Given the description of an element on the screen output the (x, y) to click on. 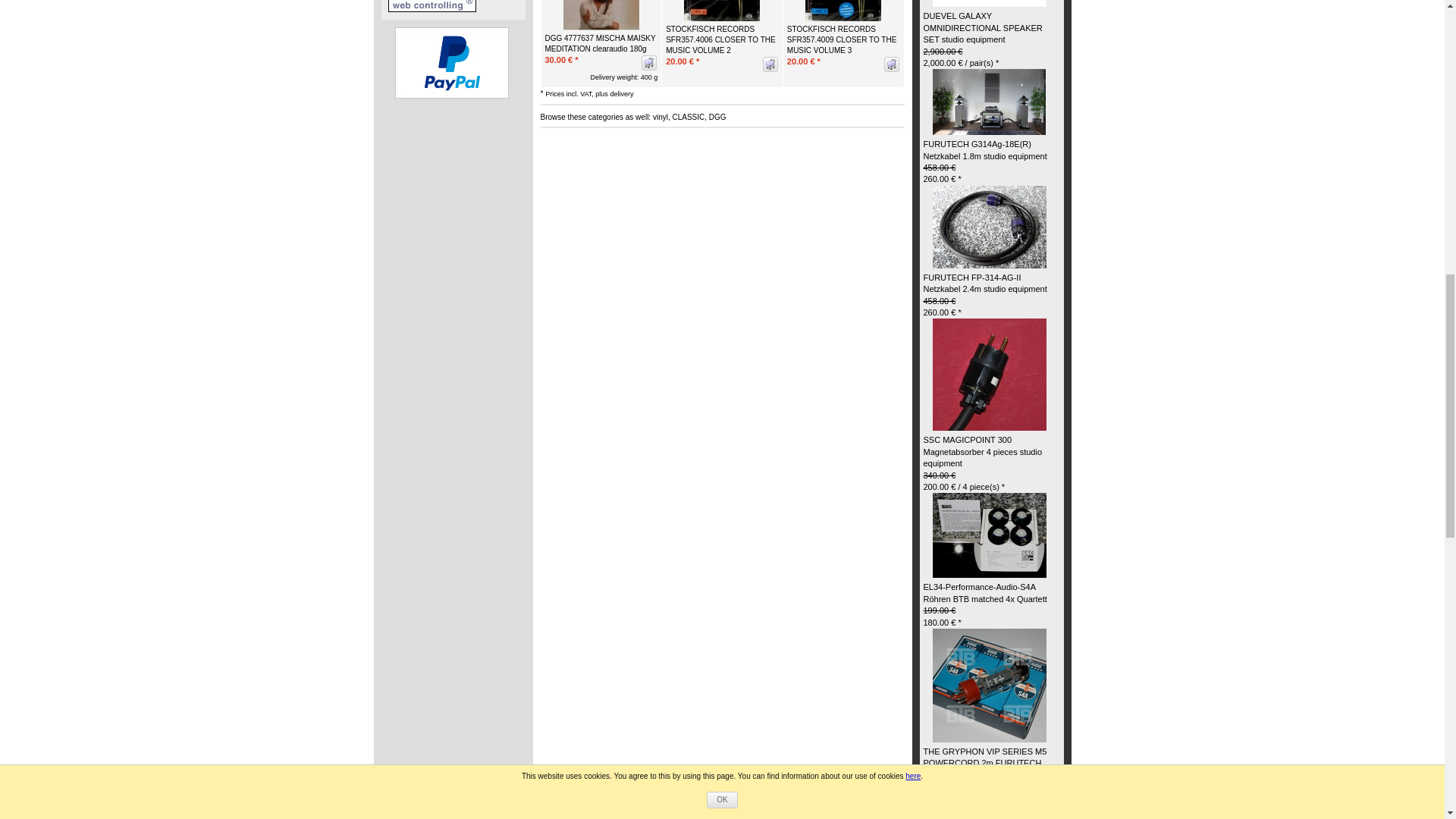
Go to product (989, 225)
Go to product (989, 533)
This shop supports payment via PayPal. (451, 62)
Go to product (989, 373)
Go to product (989, 101)
Go to product (989, 684)
